Given the description of an element on the screen output the (x, y) to click on. 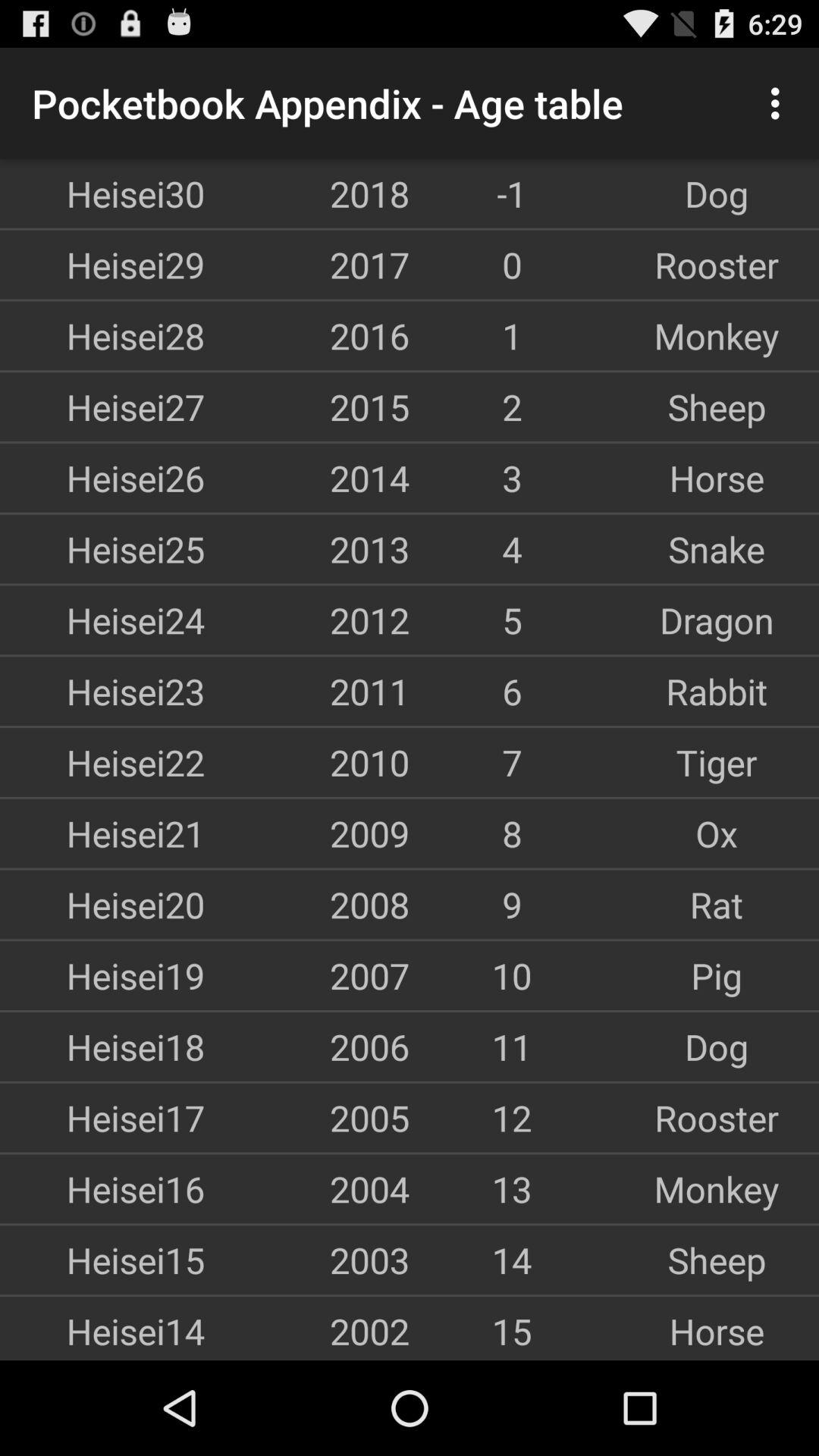
flip to the heisei27 app (102, 406)
